Given the description of an element on the screen output the (x, y) to click on. 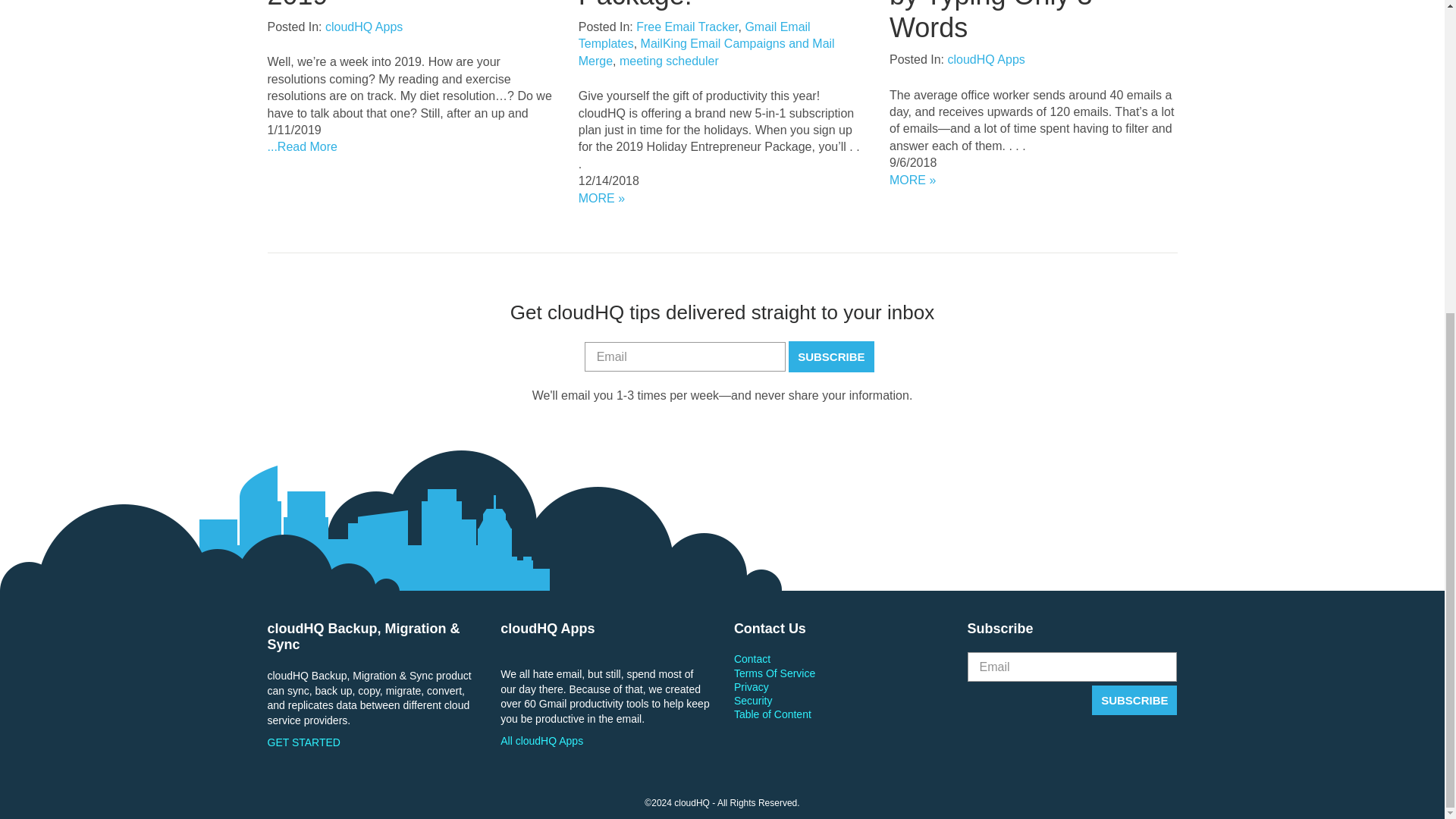
Privacy (838, 686)
Contact (838, 658)
Subscribe (831, 356)
Subscribe (1134, 699)
Terms Of Service (838, 673)
Security (838, 700)
